Given the description of an element on the screen output the (x, y) to click on. 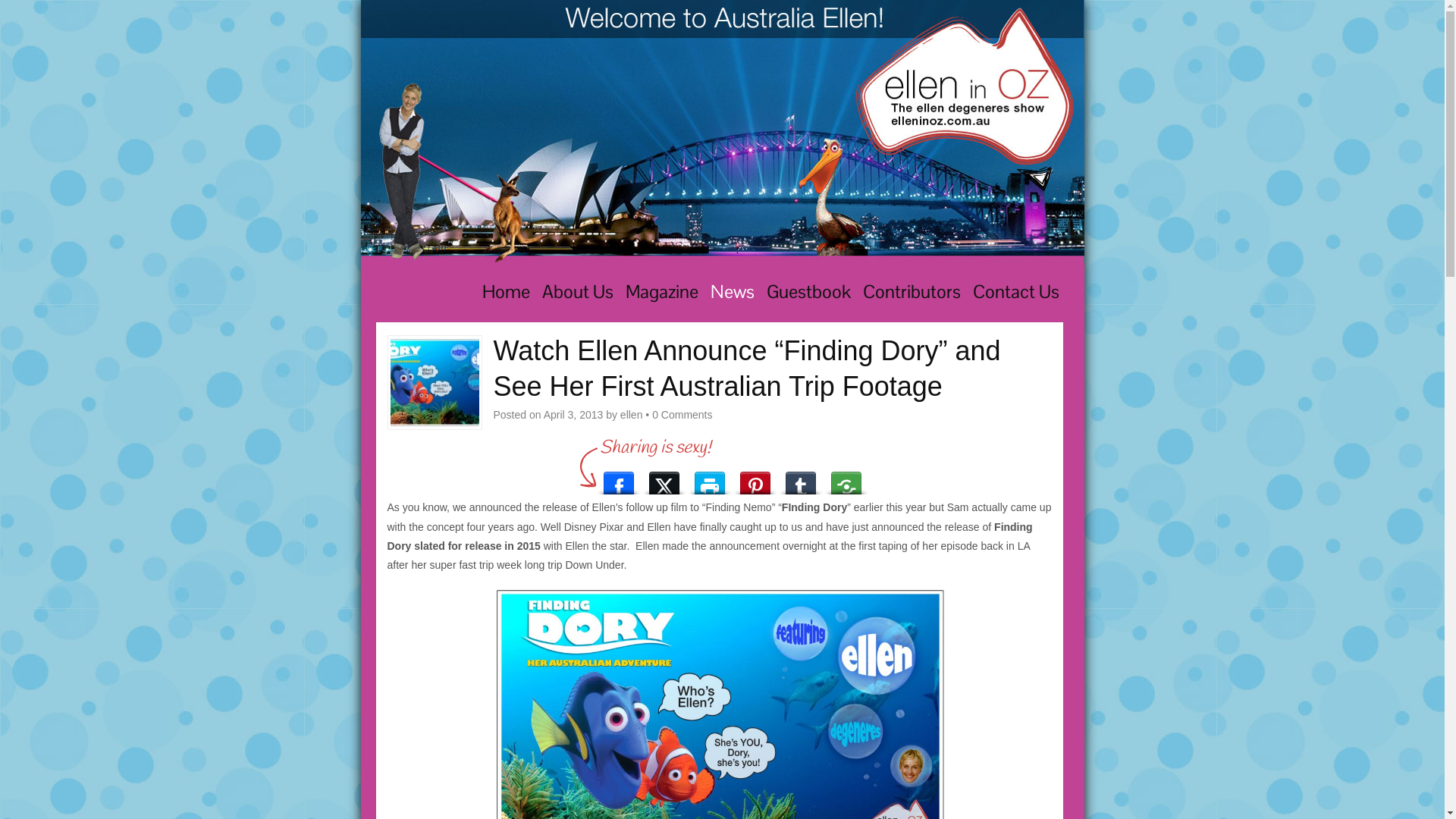
Contact Us Element type: text (1015, 291)
News Element type: text (731, 291)
More Options Element type: hover (846, 479)
Contributors Element type: text (911, 291)
Tumblr Element type: hover (800, 479)
About Us Element type: text (576, 291)
PrintFriendly Element type: hover (709, 479)
Guestbook Element type: text (807, 291)
X (Twitter) Element type: hover (664, 479)
0 Comments Element type: text (682, 414)
Facebook Element type: hover (618, 479)
Home Element type: text (506, 291)
ellen Element type: text (631, 414)
Pinterest Element type: hover (755, 479)
Magazine Element type: text (660, 291)
